Given the description of an element on the screen output the (x, y) to click on. 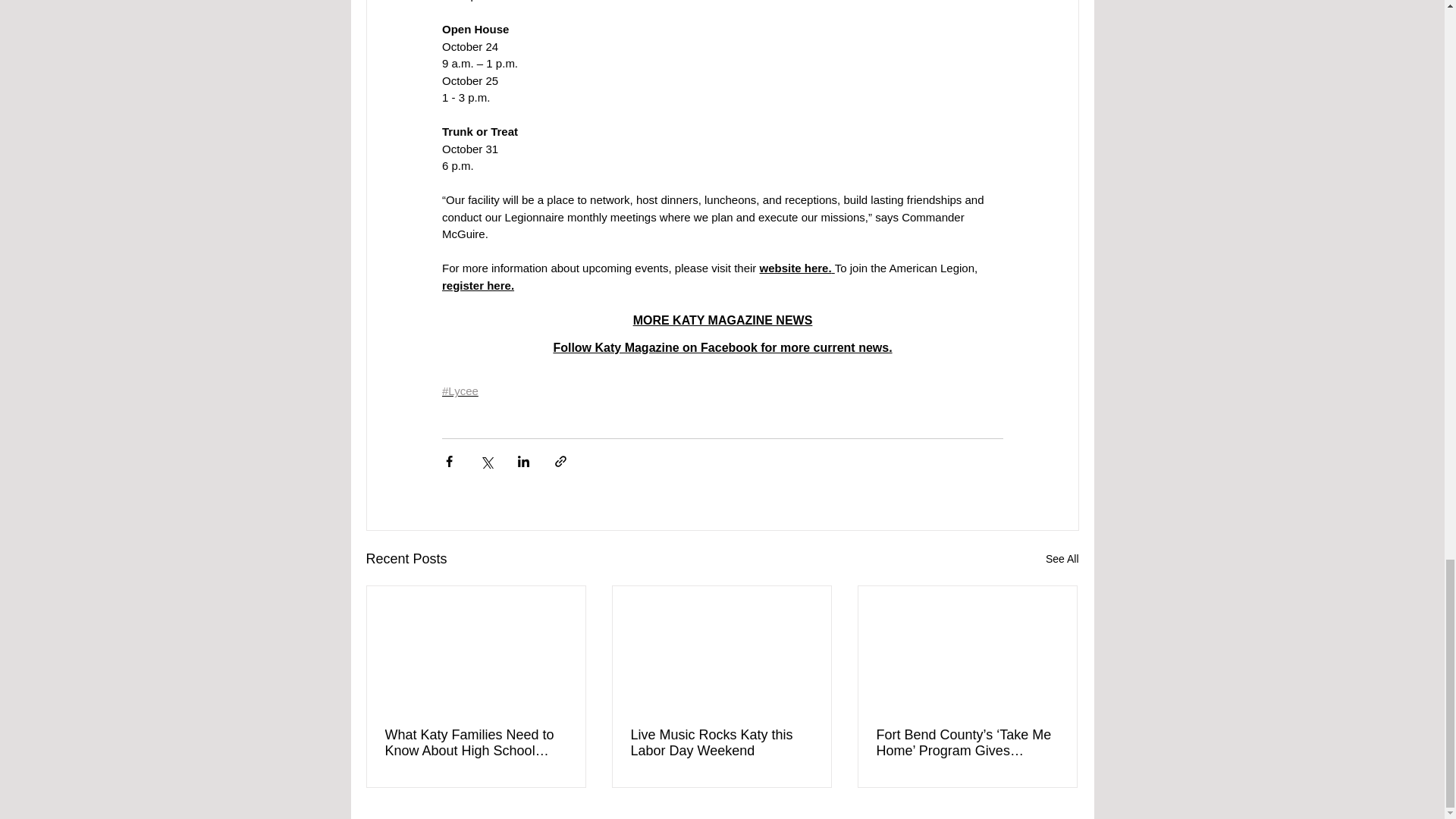
Live Music Rocks Katy this Labor Day Weekend (721, 743)
website here. (794, 267)
See All (1061, 558)
MORE KATY MAGAZINE NEWS (721, 319)
register here. (477, 285)
Follow Katy Magazine on Facebook for more current news. (722, 347)
